Given the description of an element on the screen output the (x, y) to click on. 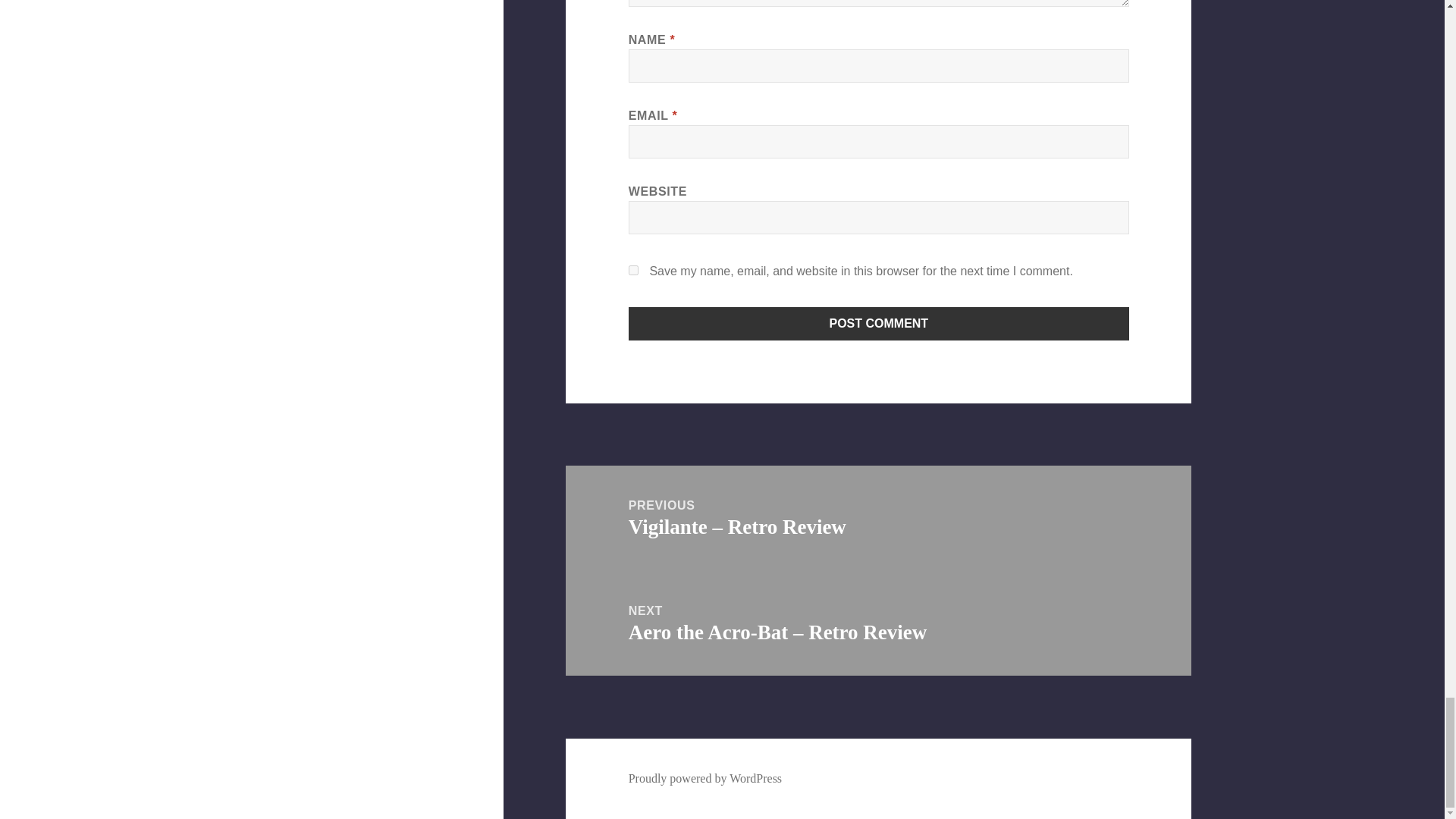
yes (633, 270)
Post Comment (878, 323)
